Given the description of an element on the screen output the (x, y) to click on. 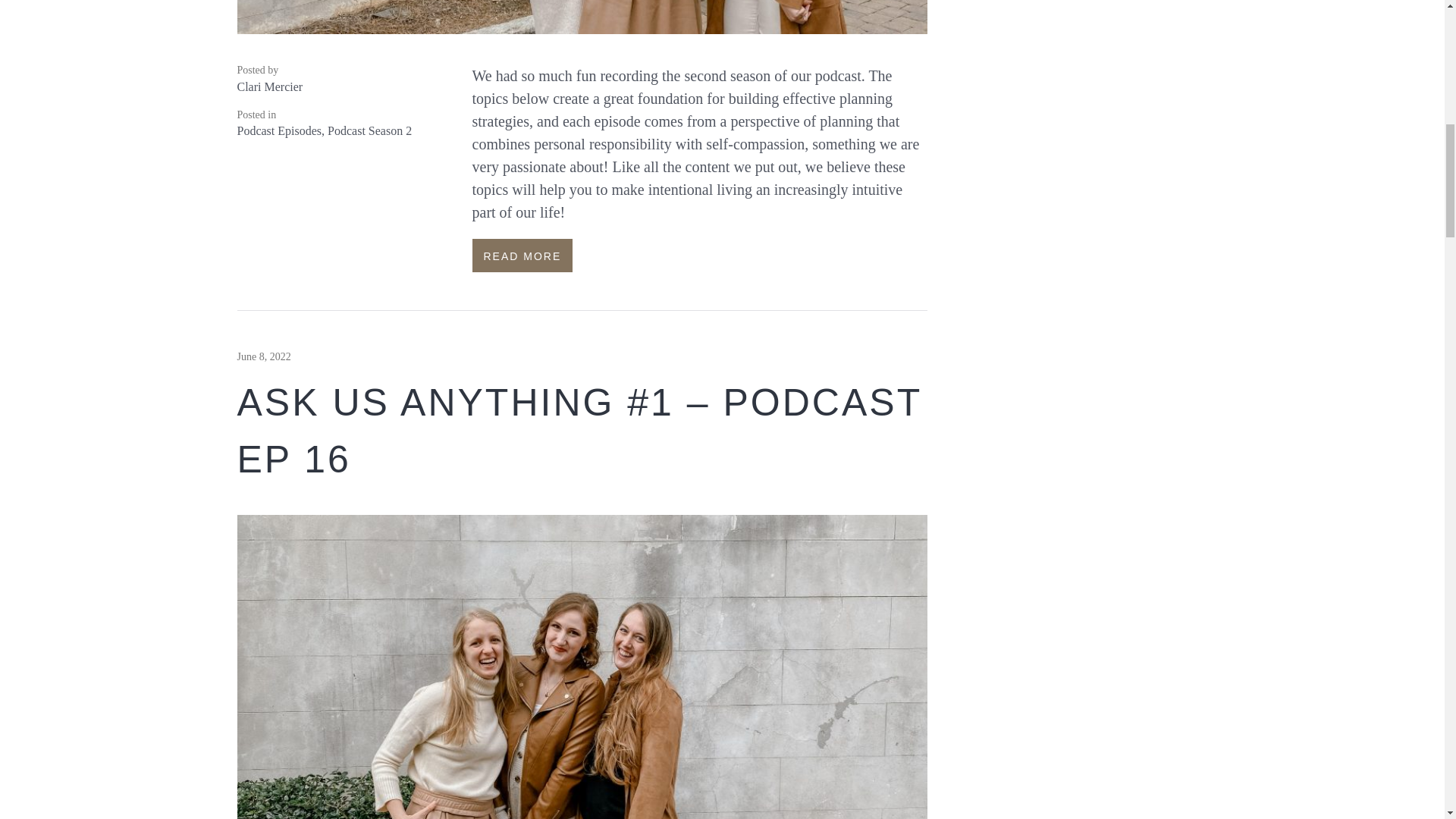
Podcast Episodes (278, 130)
Podcast Season 2 (369, 130)
Clari Mercier (268, 86)
June 8, 2022 (262, 356)
READ MORE (521, 255)
Posts by Clari Mercier (268, 86)
